Given the description of an element on the screen output the (x, y) to click on. 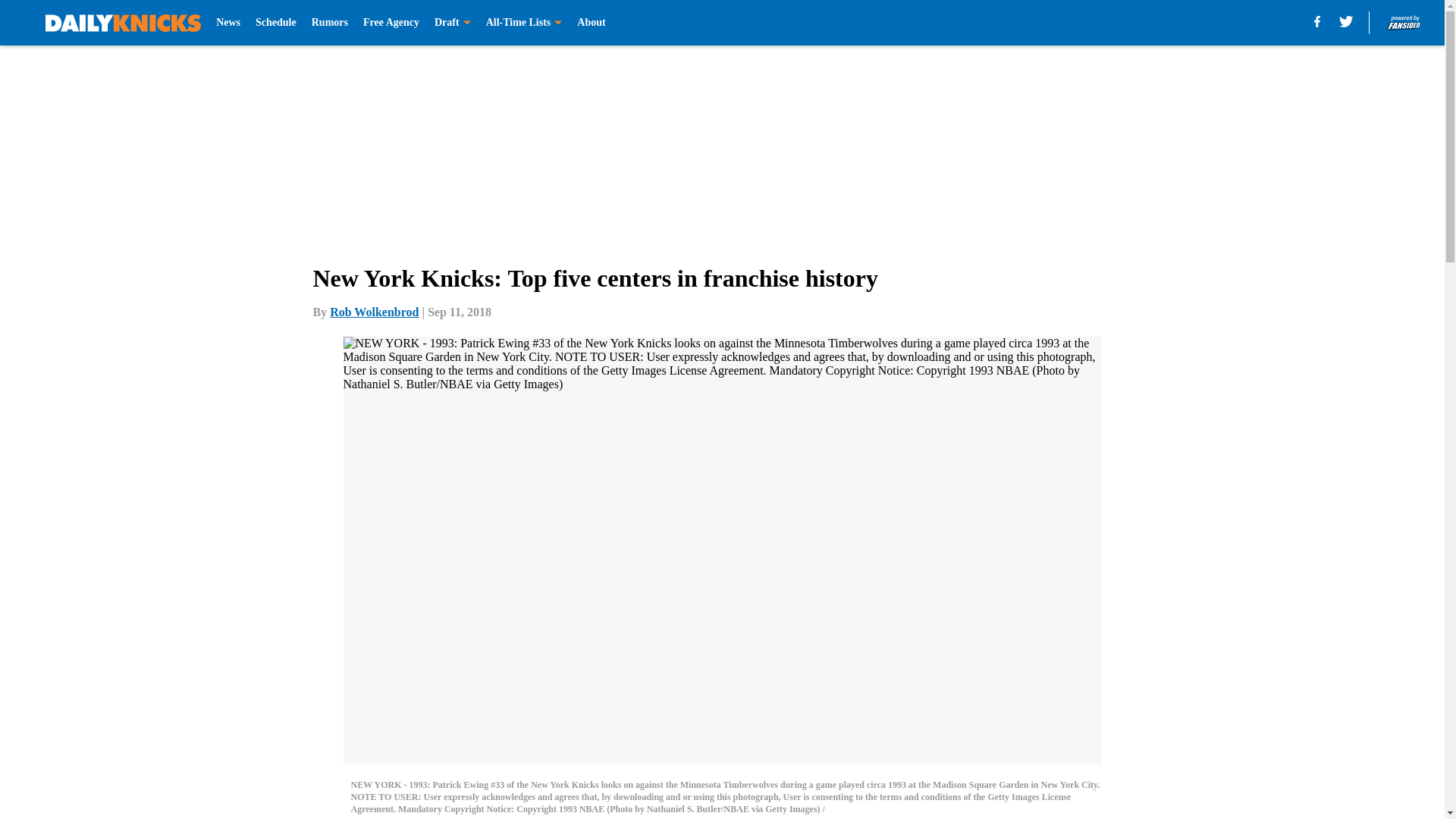
About (590, 22)
Draft (451, 22)
Rumors (329, 22)
All-Time Lists (524, 22)
Schedule (276, 22)
Rob Wolkenbrod (374, 311)
News (227, 22)
Free Agency (390, 22)
